Given the description of an element on the screen output the (x, y) to click on. 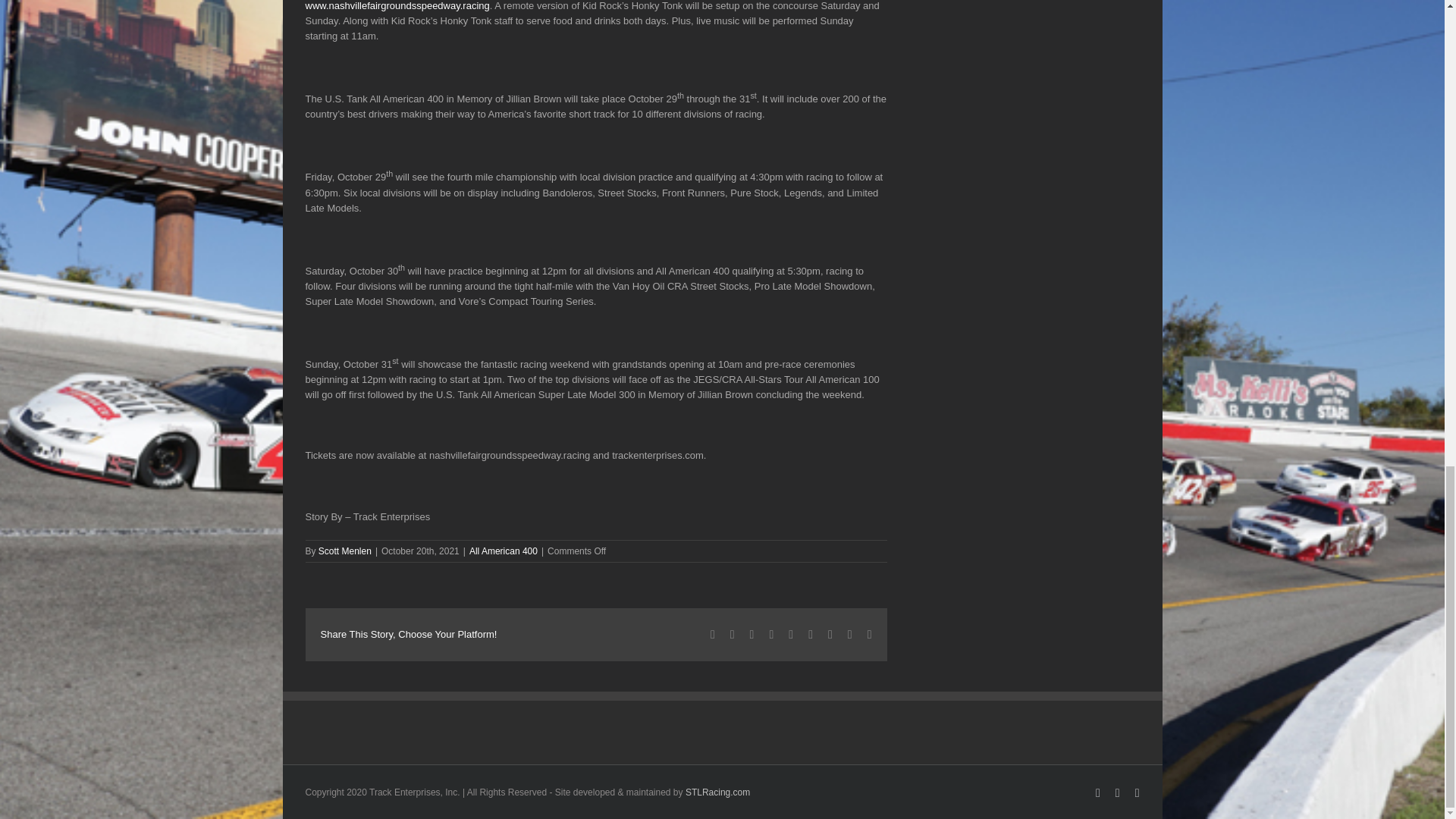
Posts by Scott Menlen (344, 551)
Scott Menlen (344, 551)
All American 400 (502, 551)
www.nashvillefairgroundsspeedway.racing (396, 5)
